Given the description of an element on the screen output the (x, y) to click on. 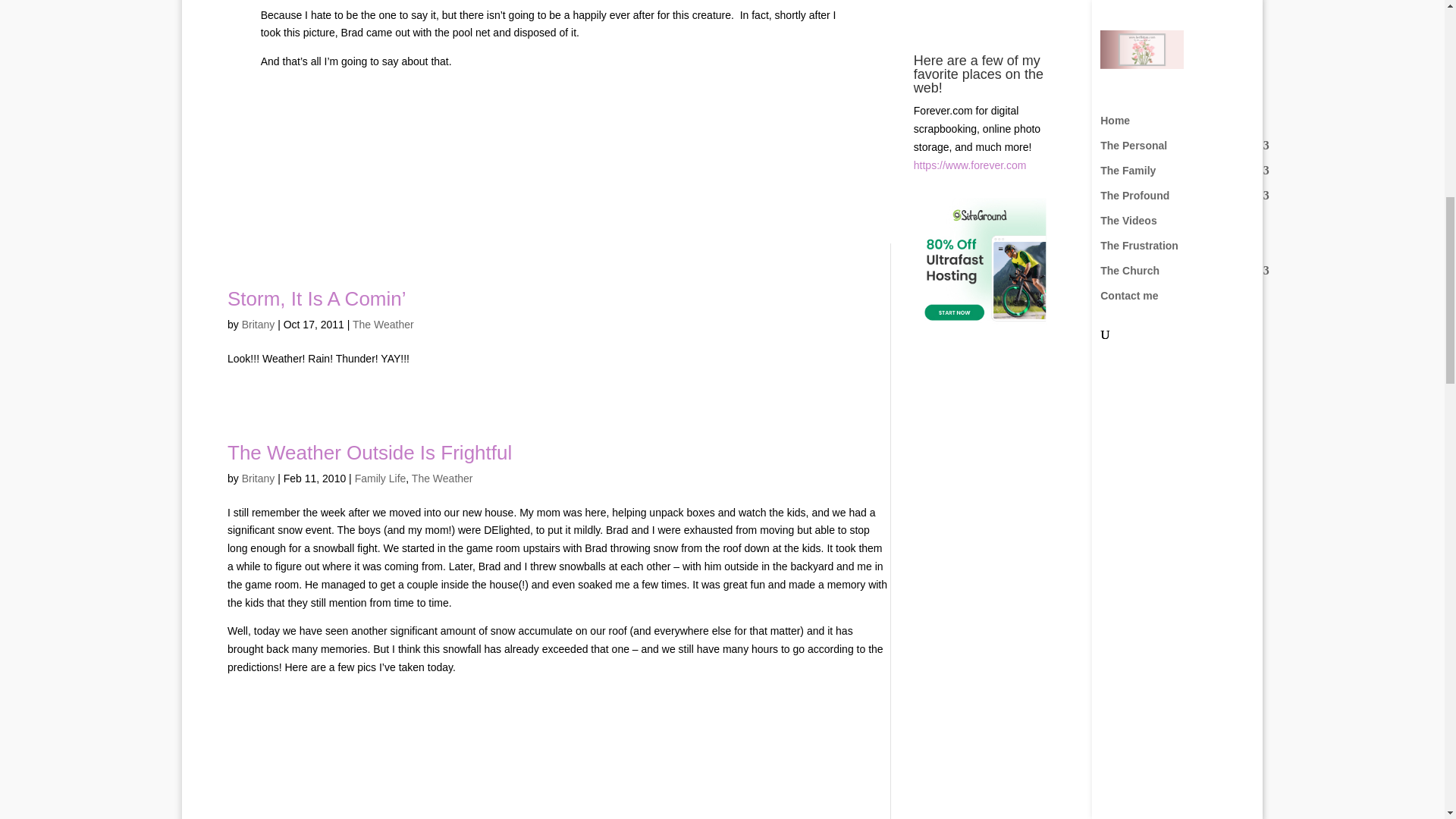
Posts by Britany (258, 478)
Posts by Britany (258, 324)
